Given the description of an element on the screen output the (x, y) to click on. 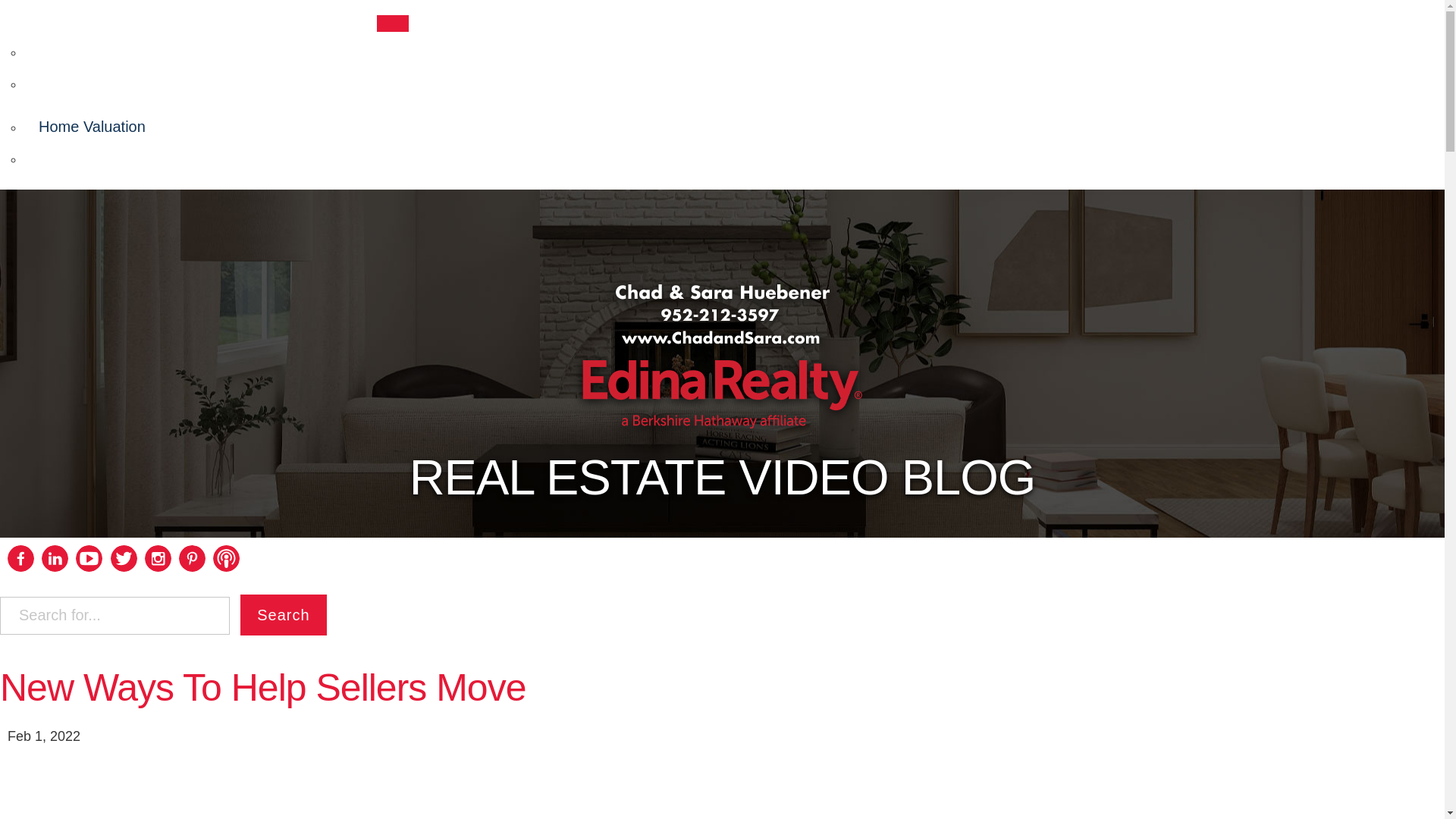
Contact (62, 80)
Twitter (123, 566)
Twitter (123, 558)
Home Search (84, 156)
TOGGLE NAVIGATION (391, 18)
YouTube (88, 566)
Search (283, 614)
Pinterest (192, 566)
Linkedin (55, 566)
Facbook (20, 567)
Home Valuation (91, 124)
Instagram (157, 558)
Home (54, 47)
Instagram (157, 566)
